Given the description of an element on the screen output the (x, y) to click on. 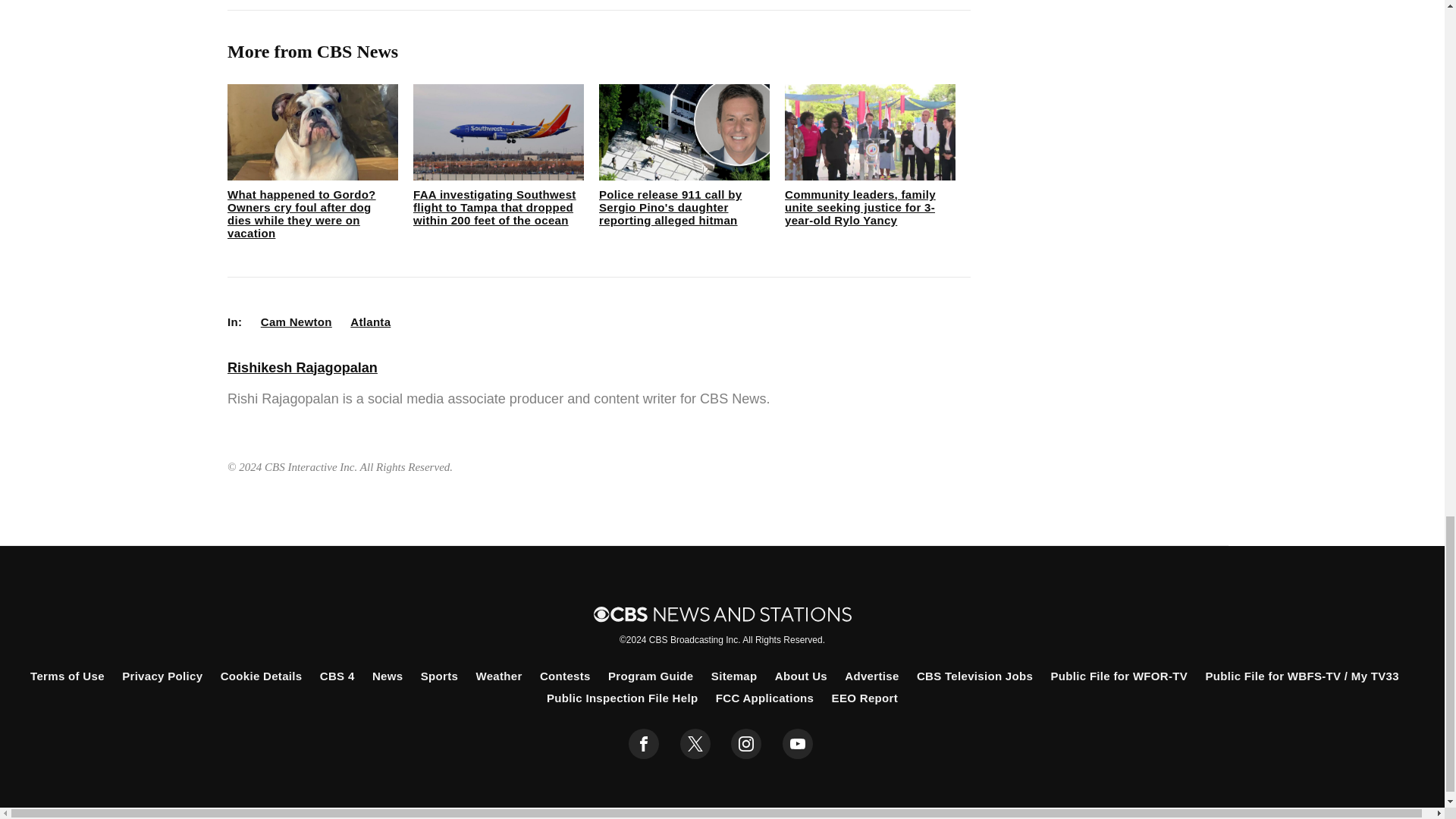
twitter (694, 743)
youtube (797, 743)
facebook (643, 743)
instagram (745, 743)
